Given the description of an element on the screen output the (x, y) to click on. 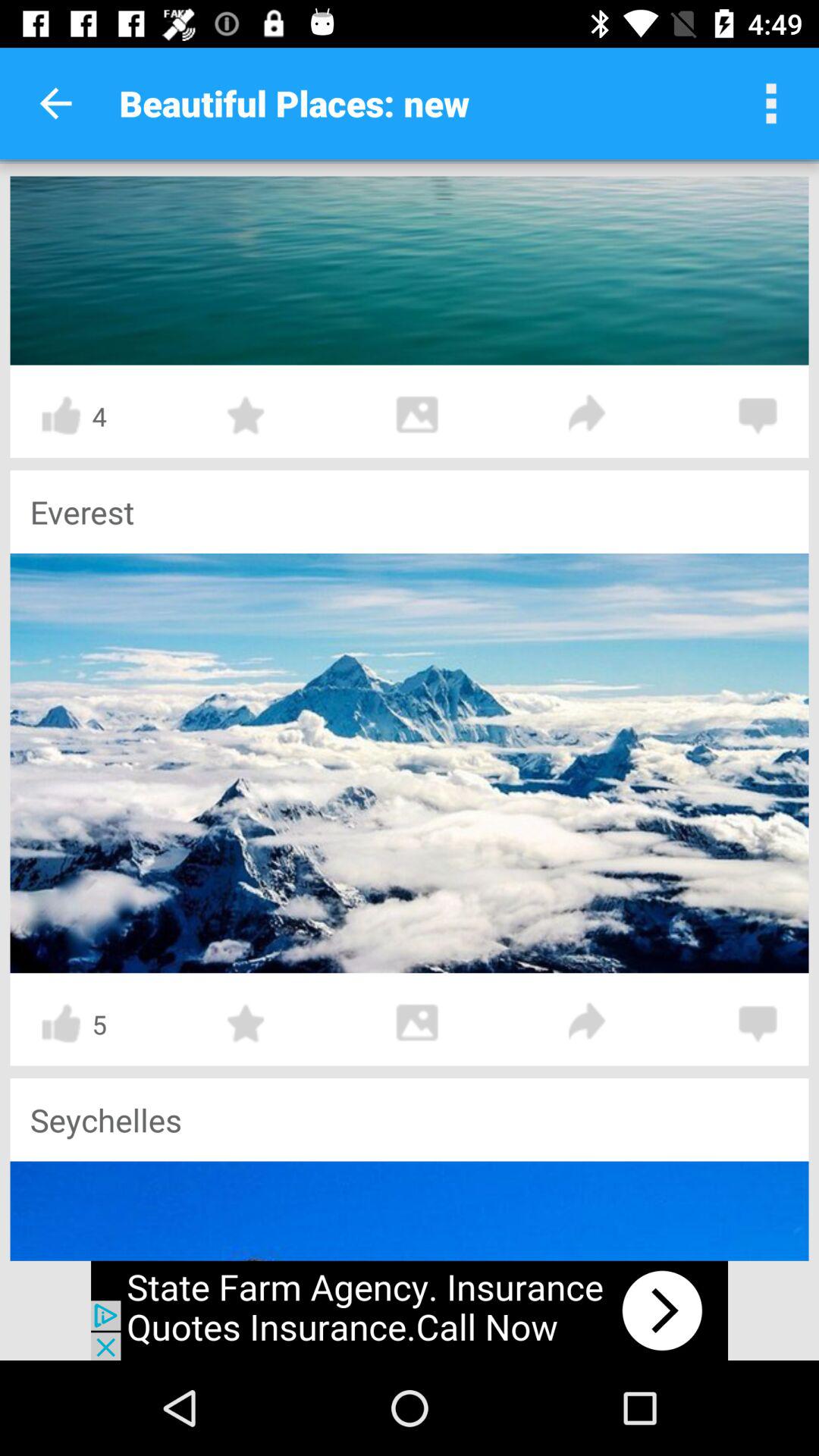
open image (409, 763)
